Given the description of an element on the screen output the (x, y) to click on. 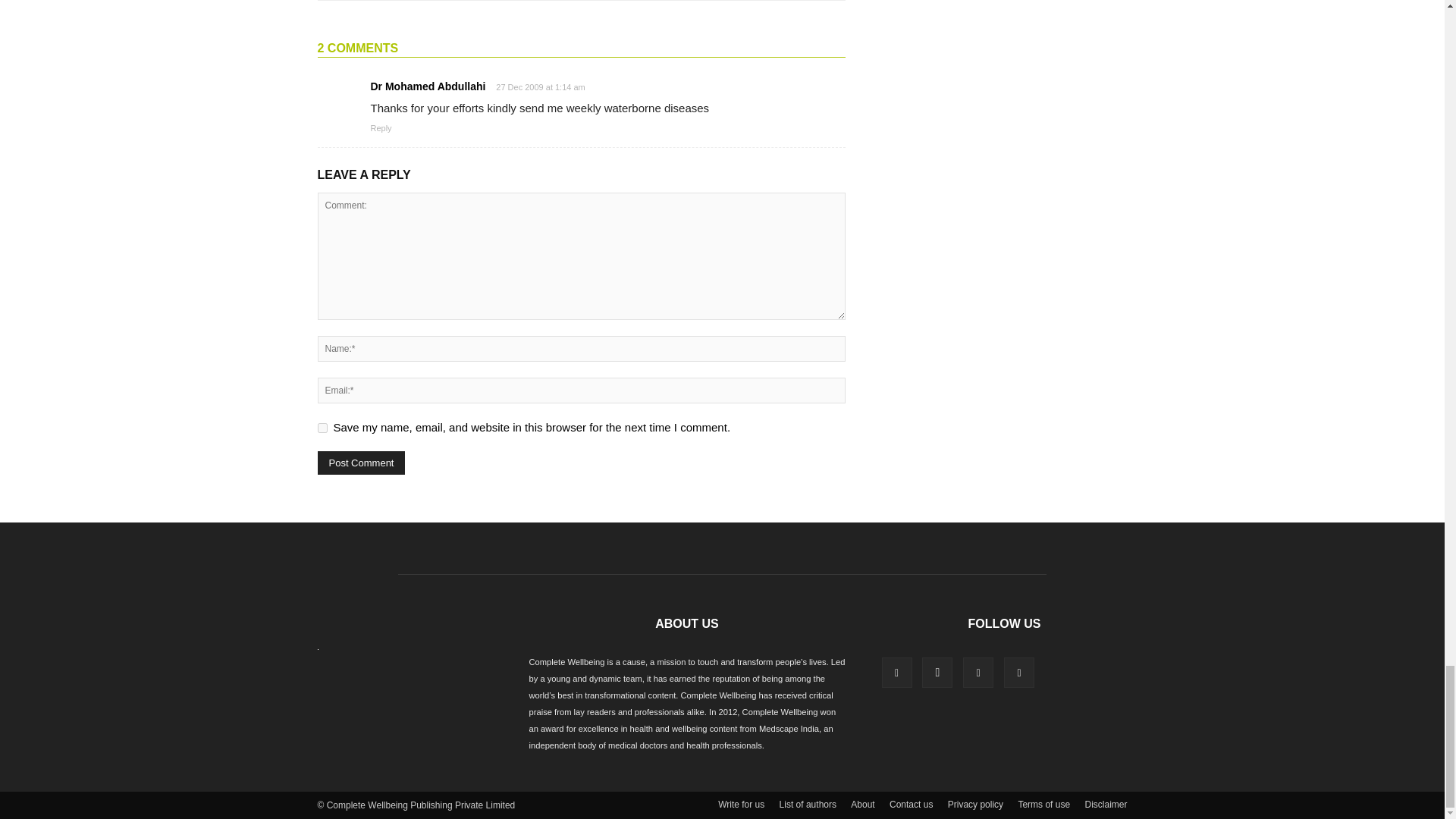
yes (321, 428)
Post Comment (360, 463)
